Given the description of an element on the screen output the (x, y) to click on. 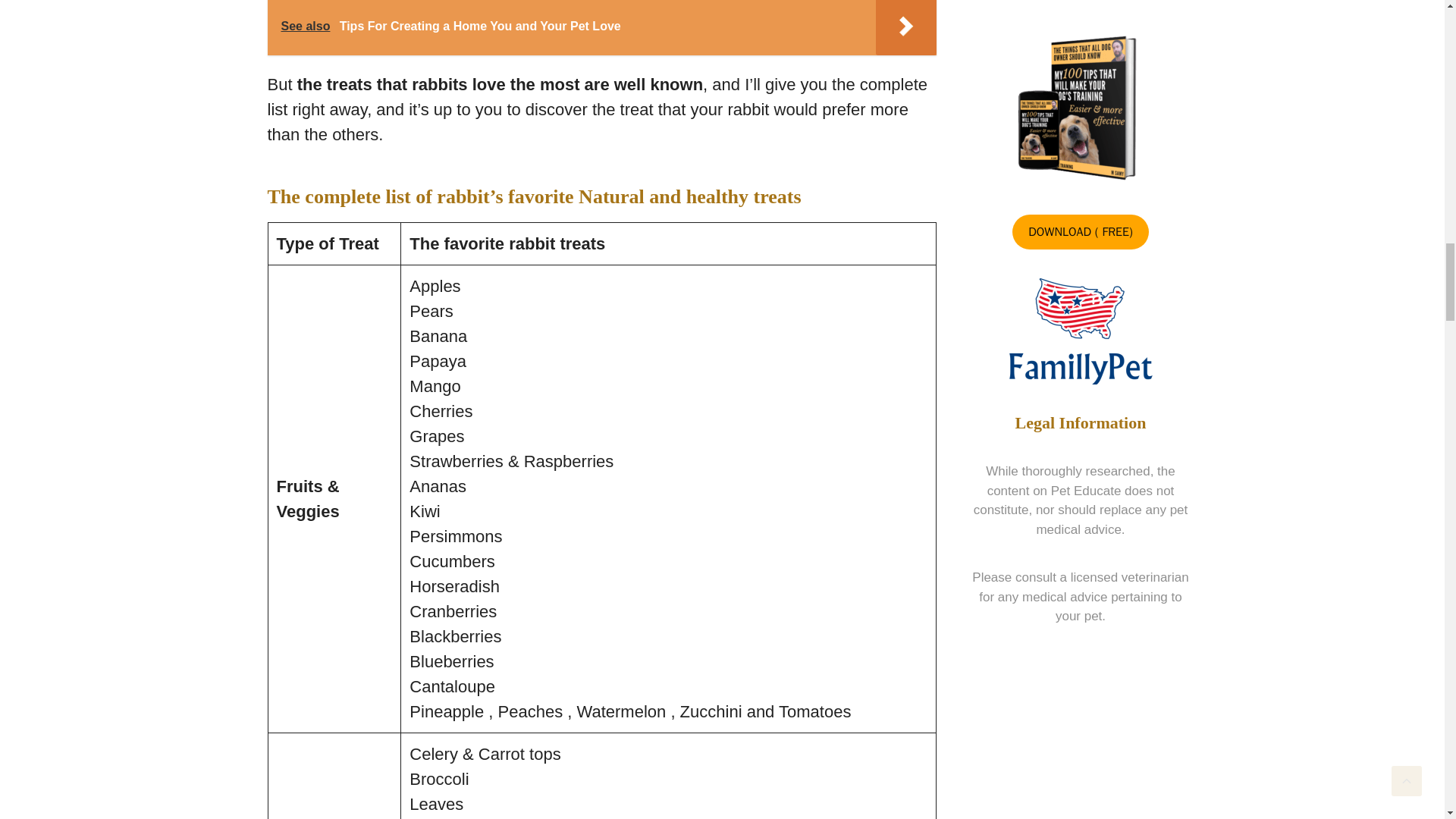
See also  Tips For Creating a Home You and Your Pet Love (601, 27)
